Given the description of an element on the screen output the (x, y) to click on. 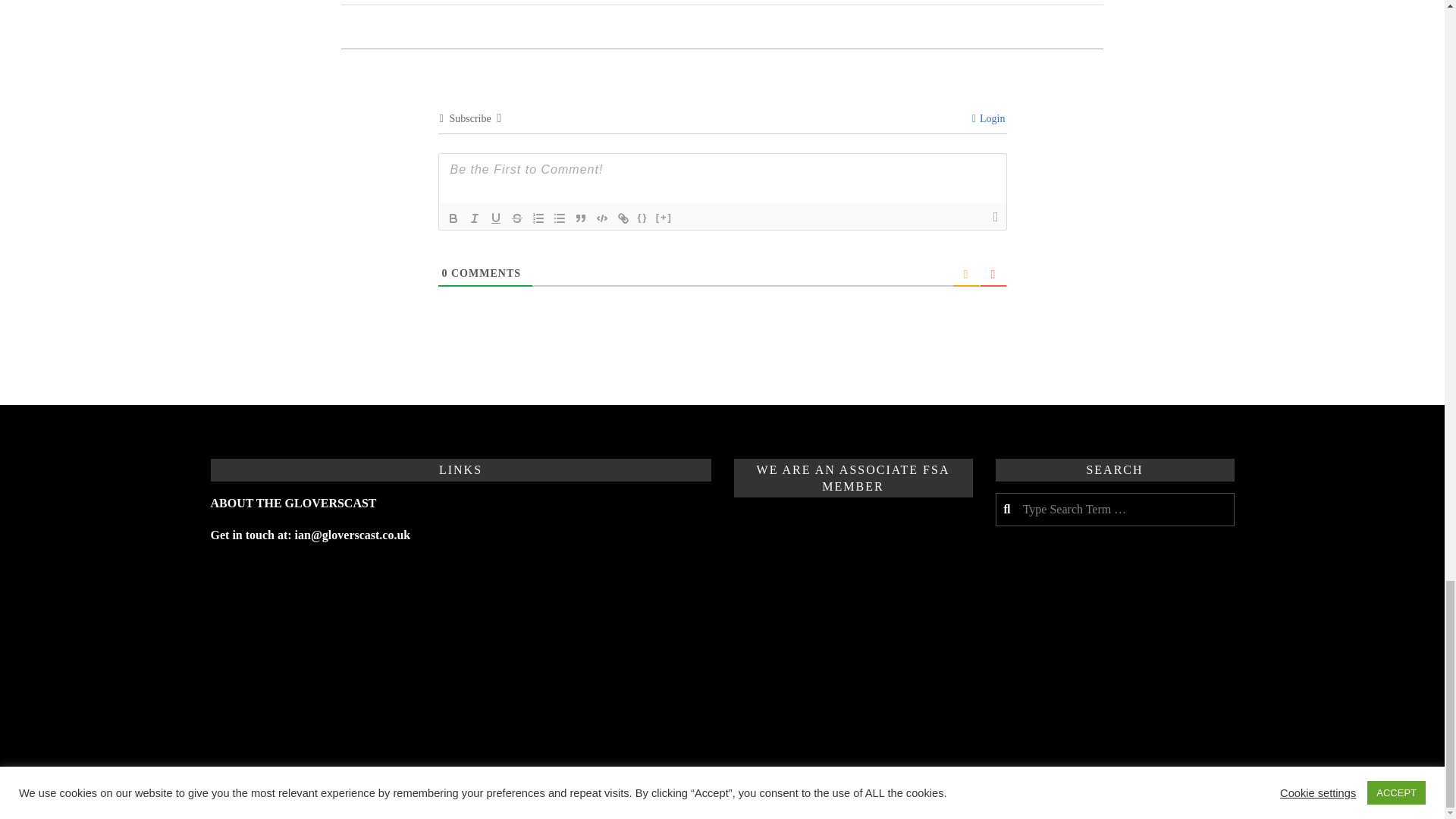
Bold (453, 218)
Italic (474, 218)
Code Block (601, 218)
Underline (495, 218)
Blockquote (580, 218)
Strike (516, 218)
Unordered List (559, 218)
Ordered List (537, 218)
